Given the description of an element on the screen output the (x, y) to click on. 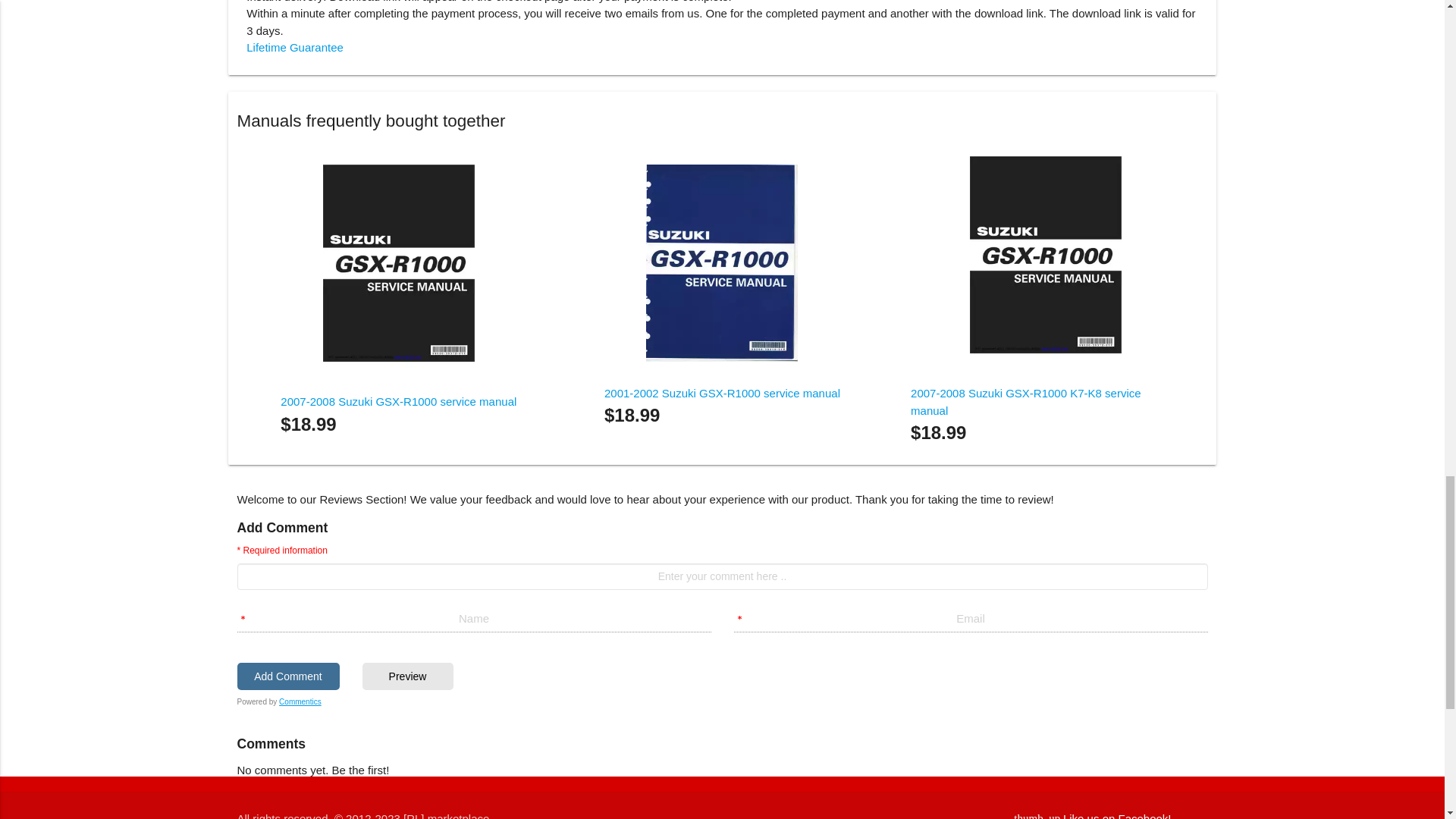
Add Comment (287, 676)
2001-2002 Suzuki GSX-R1000 service manual (722, 392)
Commentics (300, 701)
Preview (407, 676)
2007-2008 Suzuki GSX-R1000 service manual (398, 400)
2007-2008 Suzuki GSX-R1000 K7-K8 service manual (1026, 401)
Lifetime Guarantee (294, 47)
